Given the description of an element on the screen output the (x, y) to click on. 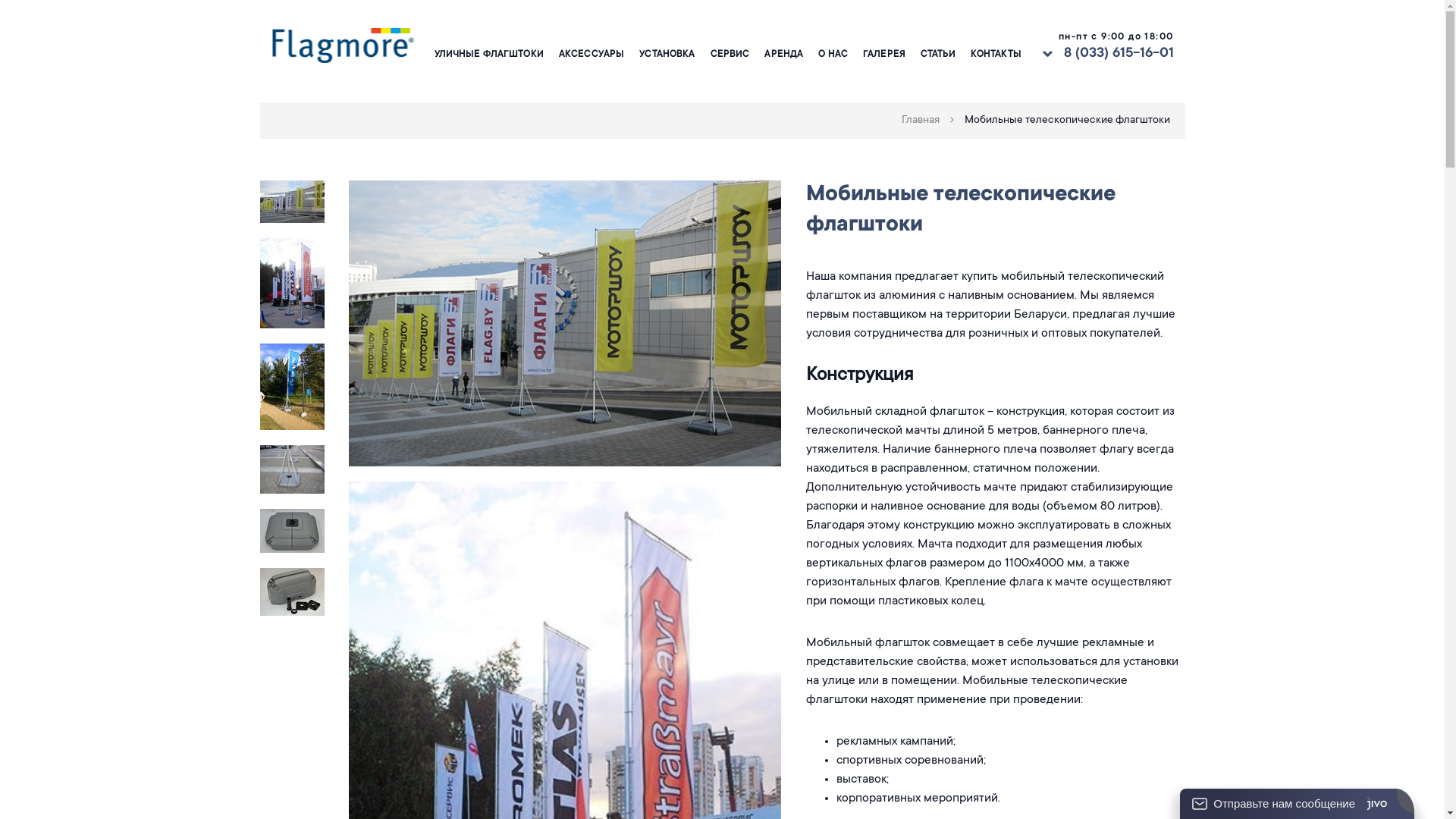
8 (033) 615-16-01 Element type: text (1118, 53)
